Given the description of an element on the screen output the (x, y) to click on. 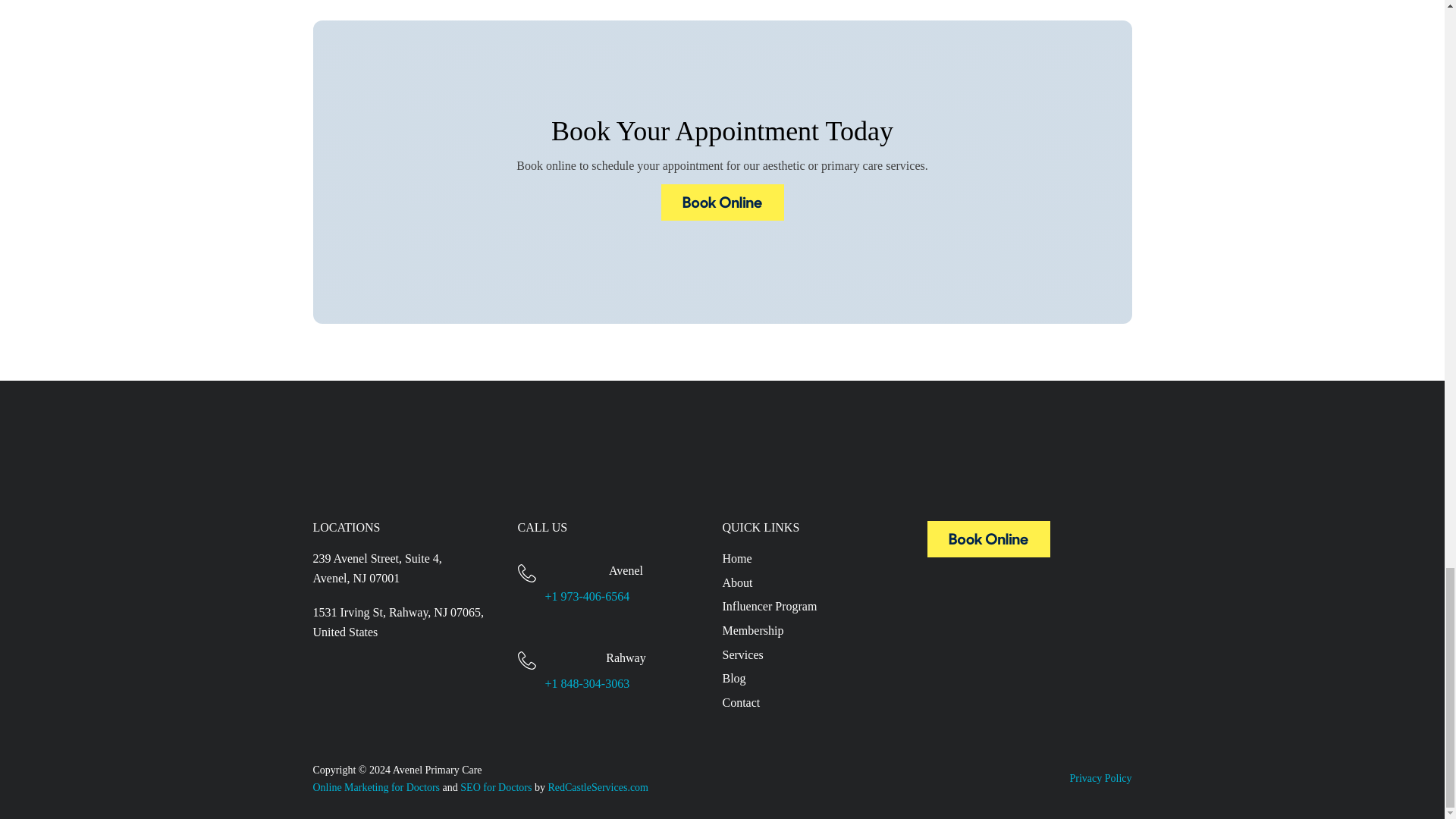
Avenel Primary Care (722, 215)
Avenel Primary Care (987, 553)
Avenel Primary Care (722, 202)
Avenel Primary Care (987, 538)
